Given the description of an element on the screen output the (x, y) to click on. 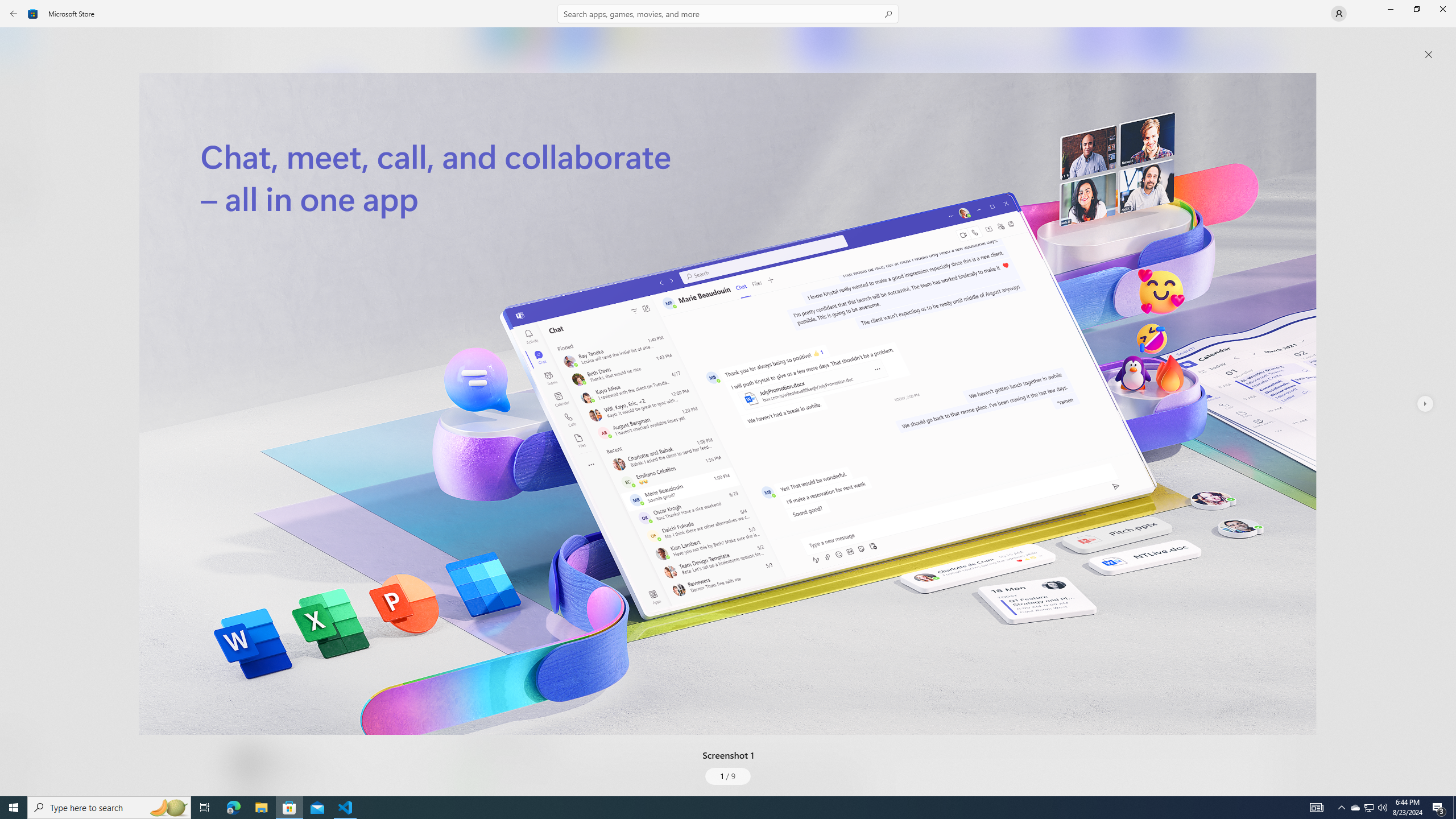
Library (20, 773)
Share (424, 769)
